Given the description of an element on the screen output the (x, y) to click on. 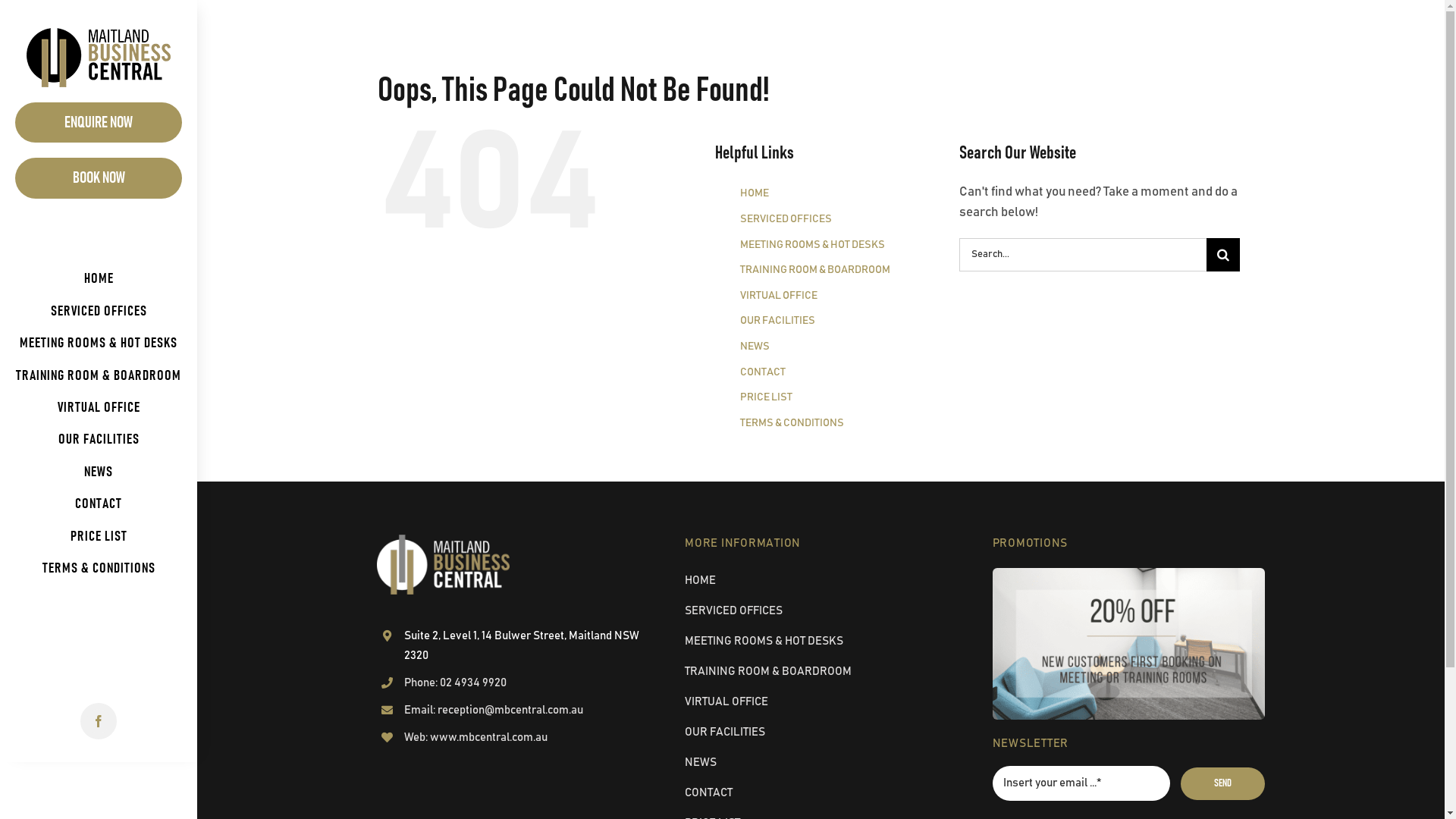
CONTACT Element type: text (98, 504)
Logo112312312 Element type: hover (442, 564)
TRAINING ROOM & BOARDROOM Element type: text (815, 269)
VIRTUAL OFFICE Element type: text (98, 407)
OUR FACILITIES Element type: text (777, 320)
PRICE LIST Element type: text (98, 536)
MEETING ROOMS & HOT DESKS Element type: text (98, 343)
TRAINING ROOM & BOARDROOM Element type: text (820, 672)
VIRTUAL OFFICE Element type: text (820, 702)
MEETING ROOMS & HOT DESKS Element type: text (820, 642)
HOME Element type: text (820, 581)
NEWS Element type: text (754, 346)
SERVICED OFFICES Element type: text (820, 611)
HOME Element type: text (98, 278)
CONTACT Element type: text (820, 793)
NEWS Element type: text (820, 763)
OUR FACILITIES Element type: text (820, 733)
PRICE LIST Element type: text (766, 397)
VIRTUAL OFFICE Element type: text (778, 295)
SERVICED OFFICES Element type: text (98, 311)
MEETING ROOMS & HOT DESKS Element type: text (812, 244)
TERMS & CONDITIONS Element type: text (98, 568)
OUR FACILITIES Element type: text (98, 439)
CONTACT Element type: text (762, 372)
BOOK NOW Element type: text (98, 177)
TERMS & CONDITIONS Element type: text (792, 422)
TRAINING ROOM & BOARDROOM Element type: text (98, 376)
SERVICED OFFICES Element type: text (785, 218)
ENQUIRE NOW Element type: text (98, 122)
NEWS Element type: text (98, 472)
HOME Element type: text (754, 193)
SEND Element type: text (1222, 783)
